Given the description of an element on the screen output the (x, y) to click on. 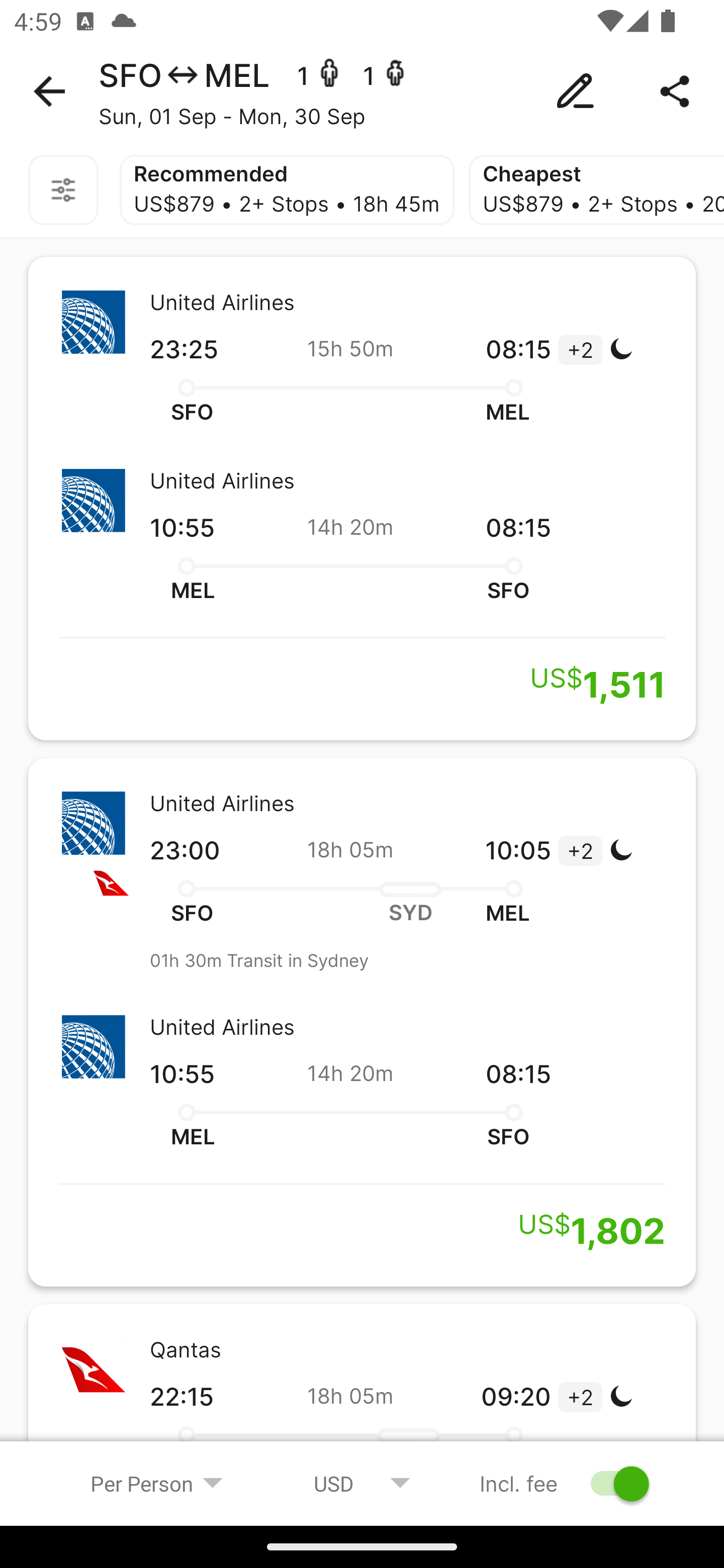
SFO MEL   1 -   1 - Sun, 01 Sep - Mon, 30 Sep (361, 91)
Recommended  US$879 • 2+ Stops • 18h 45m (286, 190)
Cheapest US$879 • 2+ Stops • 20h 27m (596, 190)
Qantas 22:15 18h 05m 09:20 SFO SYD MEL +2 (361, 1393)
Per Person (156, 1482)
USD (361, 1482)
